Given the description of an element on the screen output the (x, y) to click on. 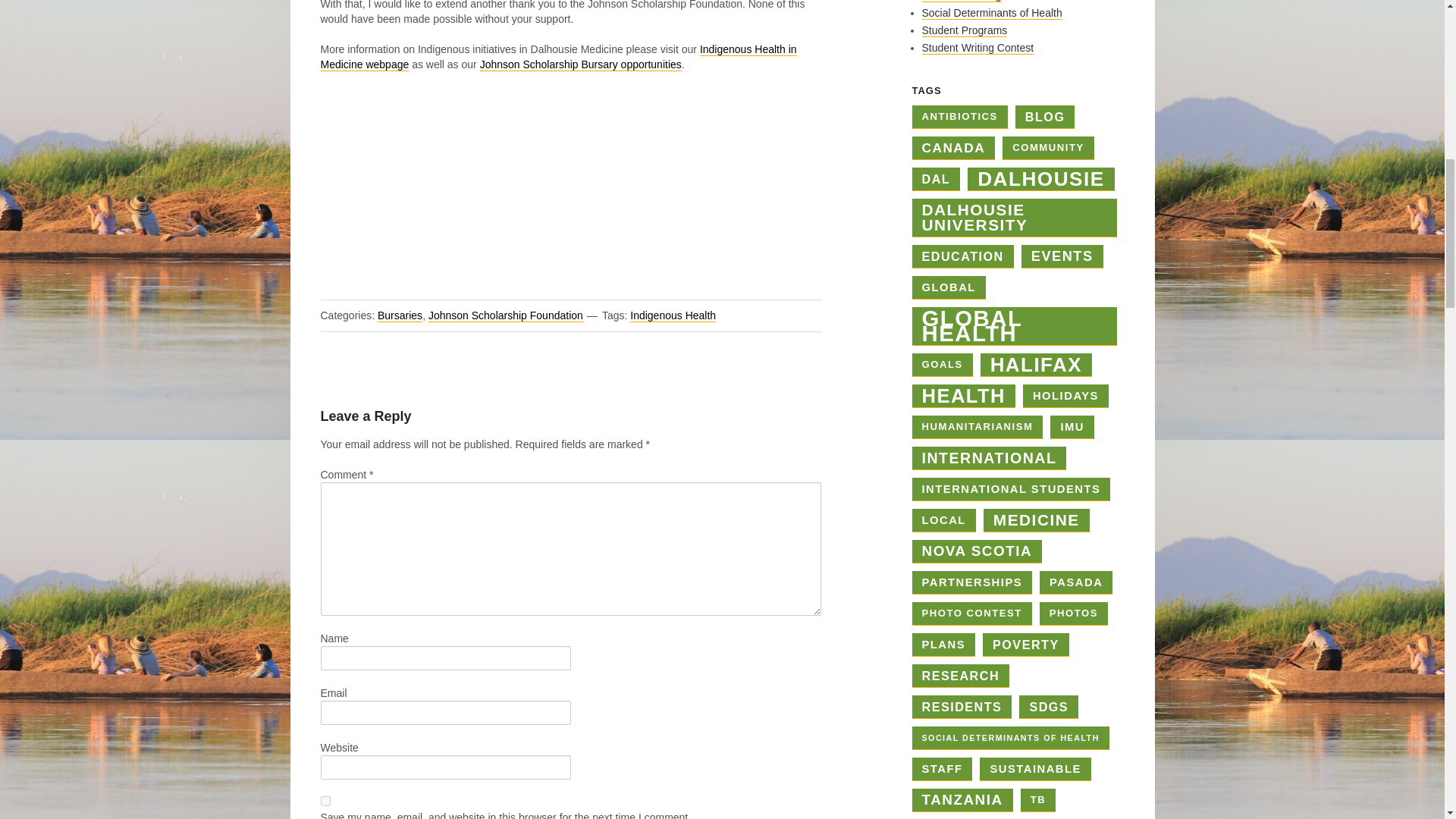
Indigenous Health in Medicine webpage (558, 57)
Johnson Scholarship Foundation (505, 315)
Johnson Scholarship Bursary opportunities (580, 64)
yes (325, 800)
Bursaries (399, 315)
Indigenous Health (673, 315)
